Given the description of an element on the screen output the (x, y) to click on. 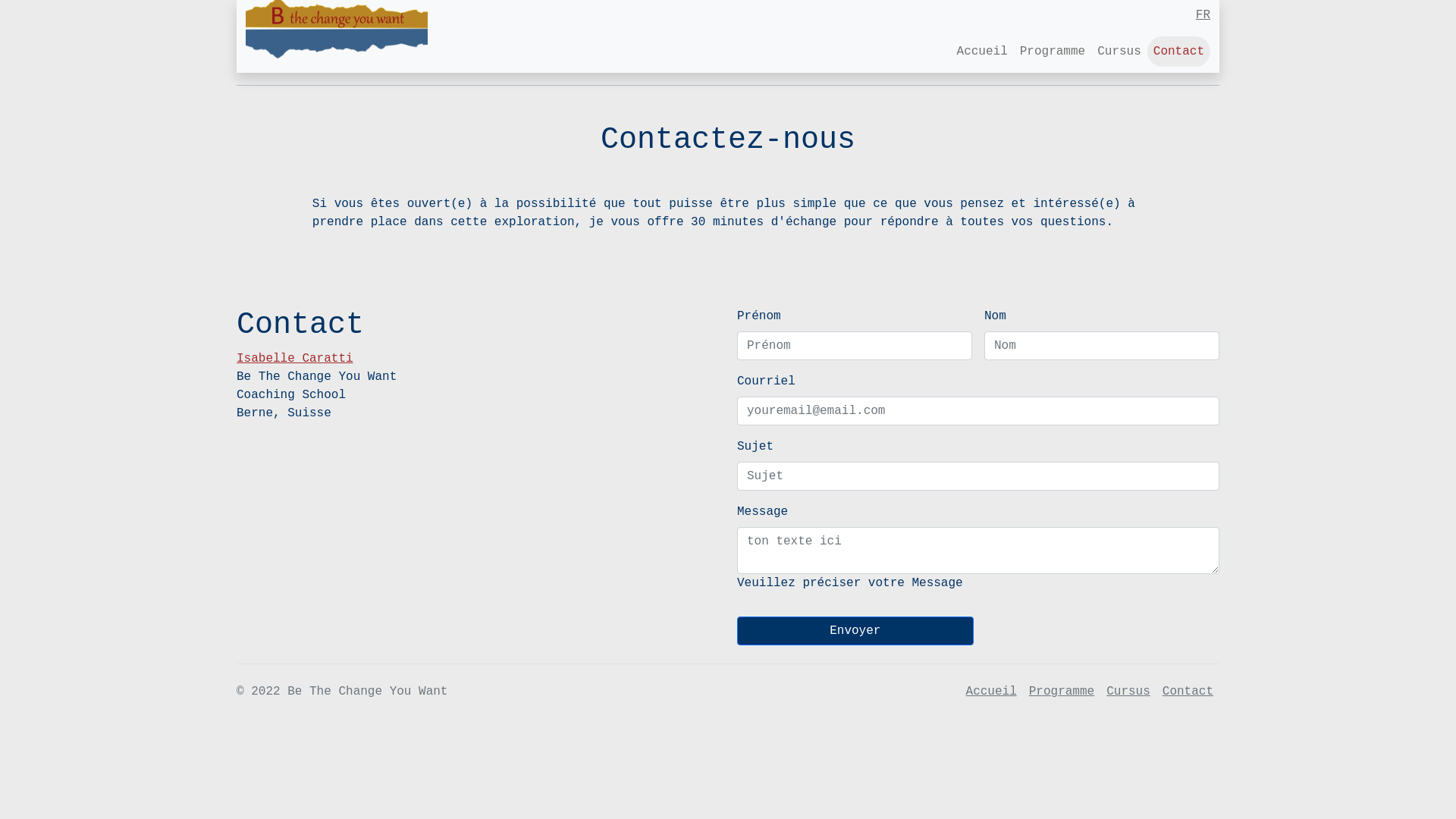
Programme Element type: text (1061, 691)
Contact Element type: text (1178, 51)
Isabelle Caratti Element type: text (294, 358)
Accueil Element type: text (981, 51)
Contact Element type: text (1187, 691)
FR Element type: text (727, 15)
Cursus Element type: text (1128, 691)
Cursus Element type: text (1119, 51)
Envoyer Element type: text (855, 630)
Programme Element type: text (1052, 51)
Accueil Element type: text (991, 691)
